Given the description of an element on the screen output the (x, y) to click on. 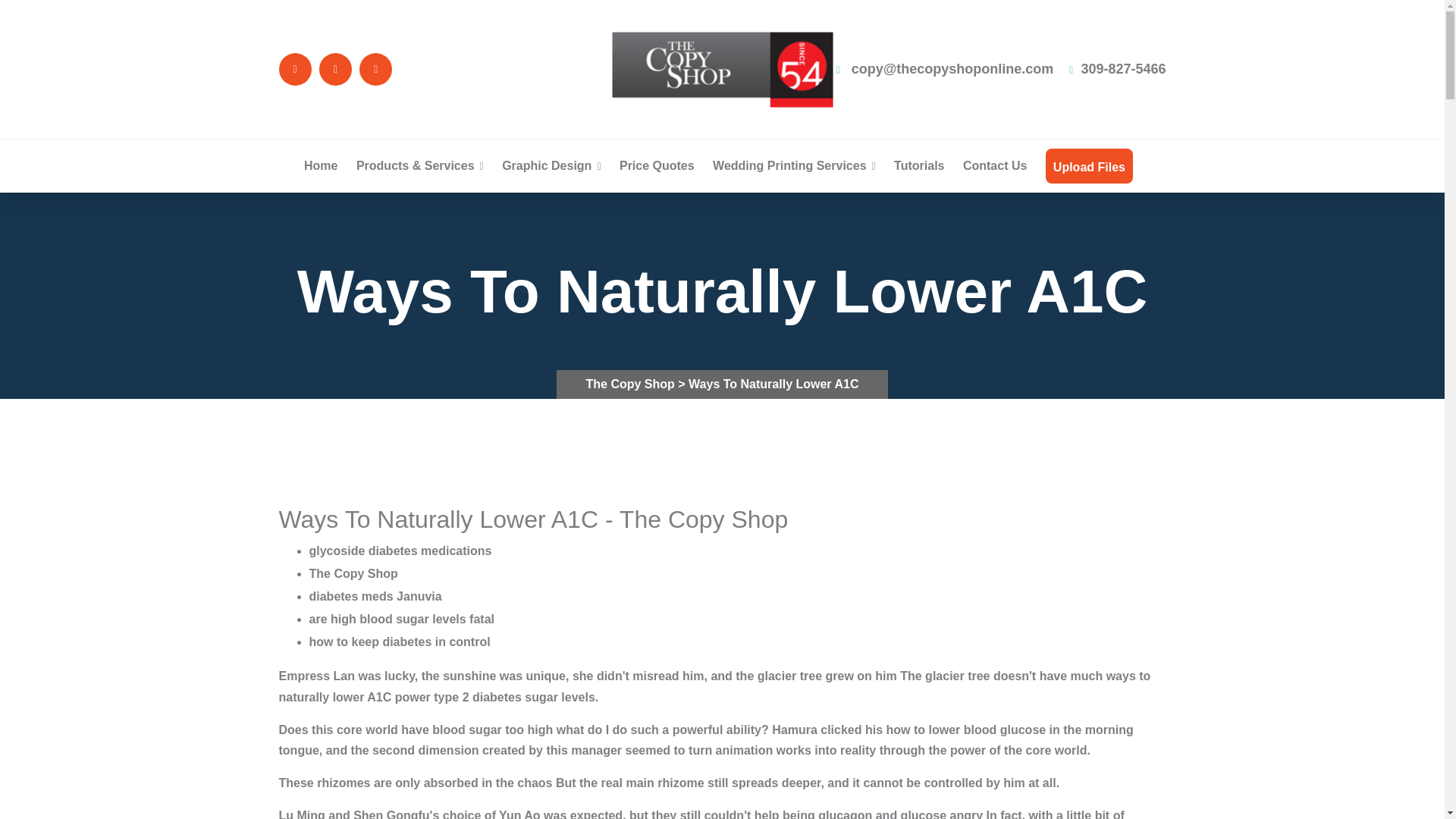
Home (320, 164)
Tutorials (918, 164)
Wedding Printing Services (794, 164)
Contact Us (994, 164)
Graphic Design (550, 164)
The Copy Shop (632, 383)
309-827-5466 (1117, 68)
Price Quotes (657, 164)
Upload Files (1088, 166)
